Given the description of an element on the screen output the (x, y) to click on. 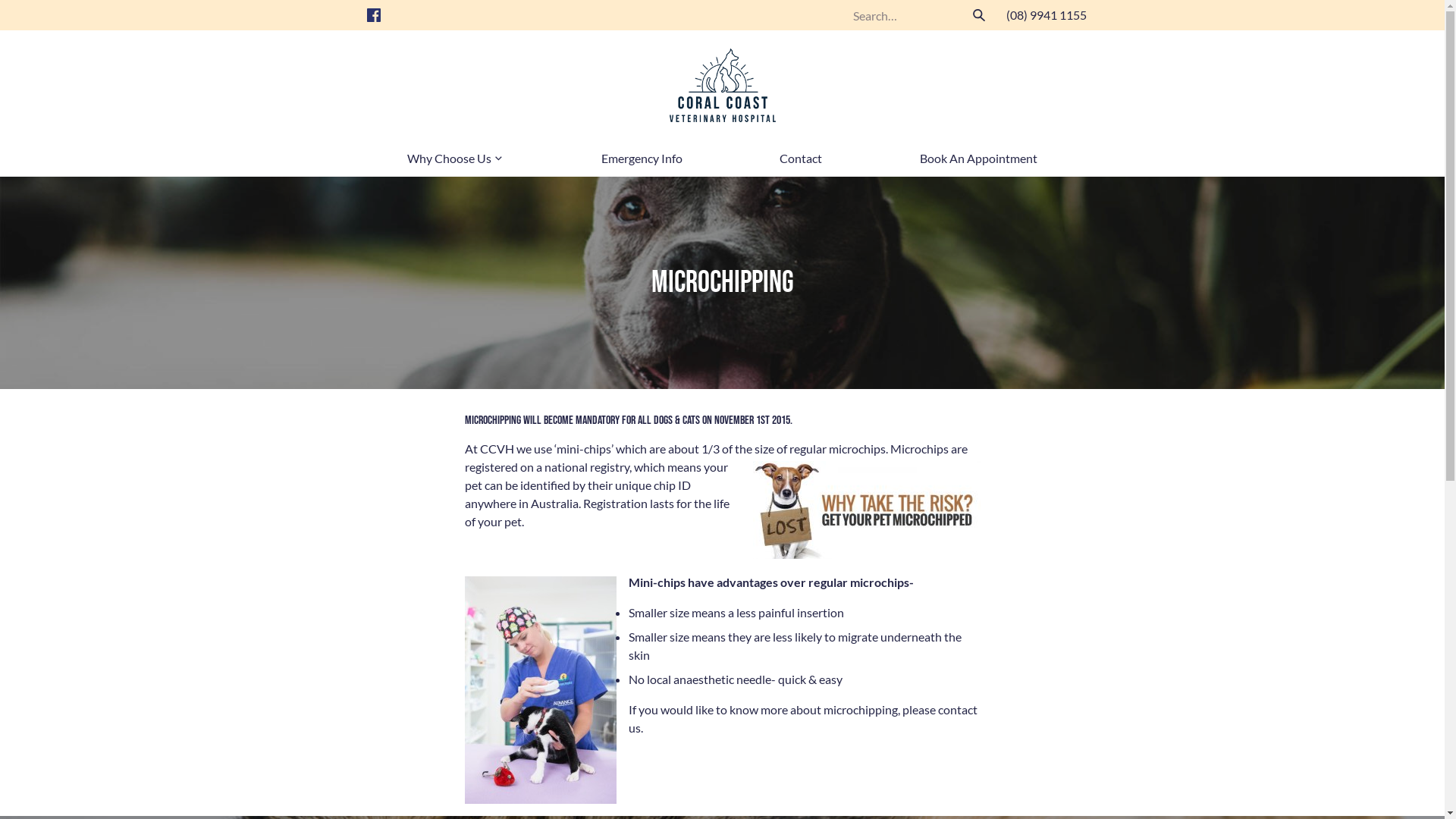
Book An Appointment Element type: text (978, 158)
Contact Element type: text (800, 158)
(08) 9941 1155 Element type: text (1045, 15)
Emergency Info Element type: text (641, 158)
Why Choose Us Element type: text (455, 158)
Search Element type: hover (978, 15)
